Given the description of an element on the screen output the (x, y) to click on. 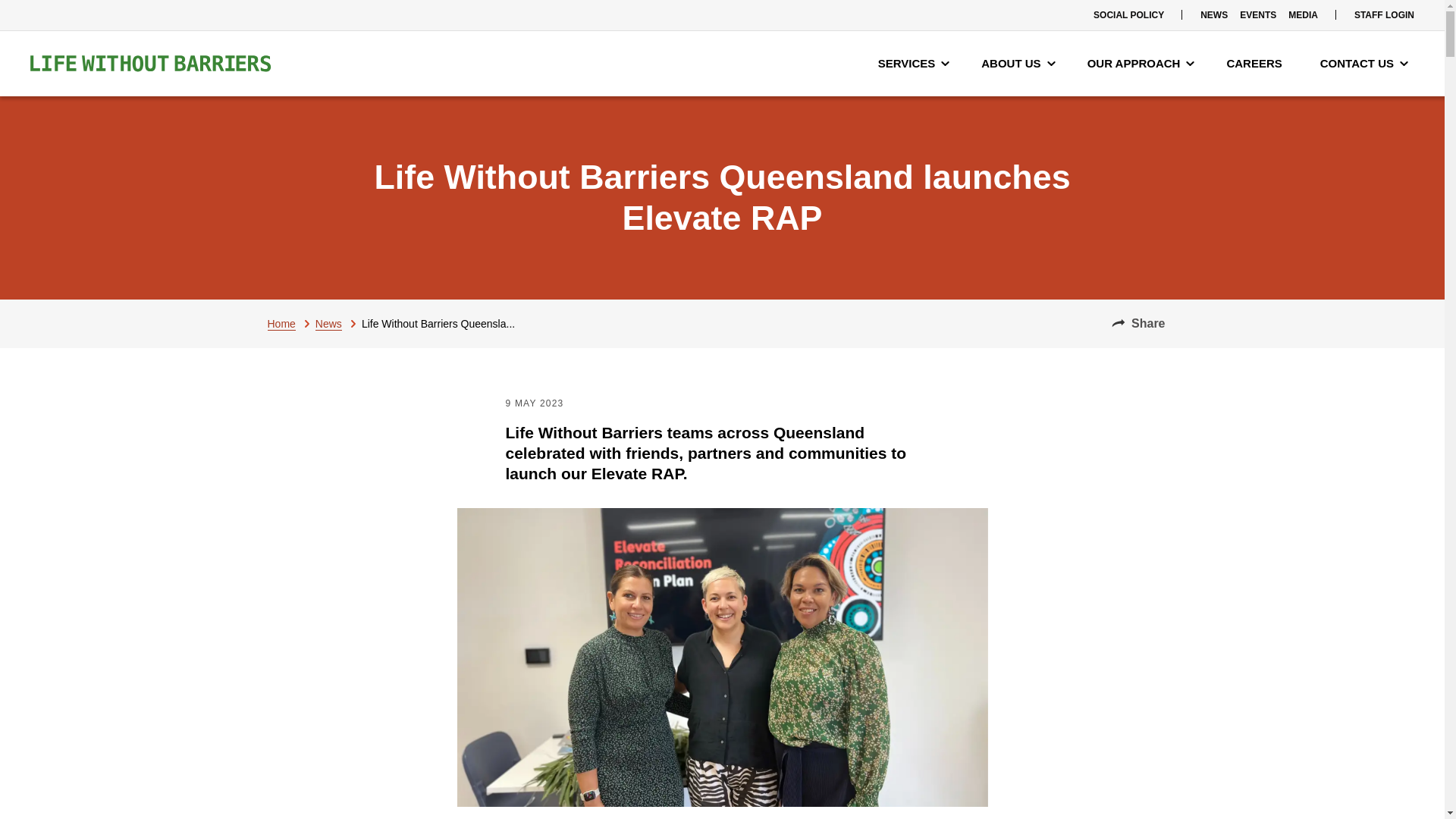
STAFF LOGIN (1384, 15)
Return to news page (338, 322)
Careers (1257, 63)
Return navigation (290, 322)
EVENTS (1257, 15)
About us (1018, 63)
NEWS (1213, 15)
CAREERS (1257, 63)
Home (290, 322)
News (338, 322)
Our approach (1141, 63)
Life Without Barriers (150, 63)
Services (914, 63)
SOCIAL POLICY (1128, 15)
Contact us (1364, 63)
